Given the description of an element on the screen output the (x, y) to click on. 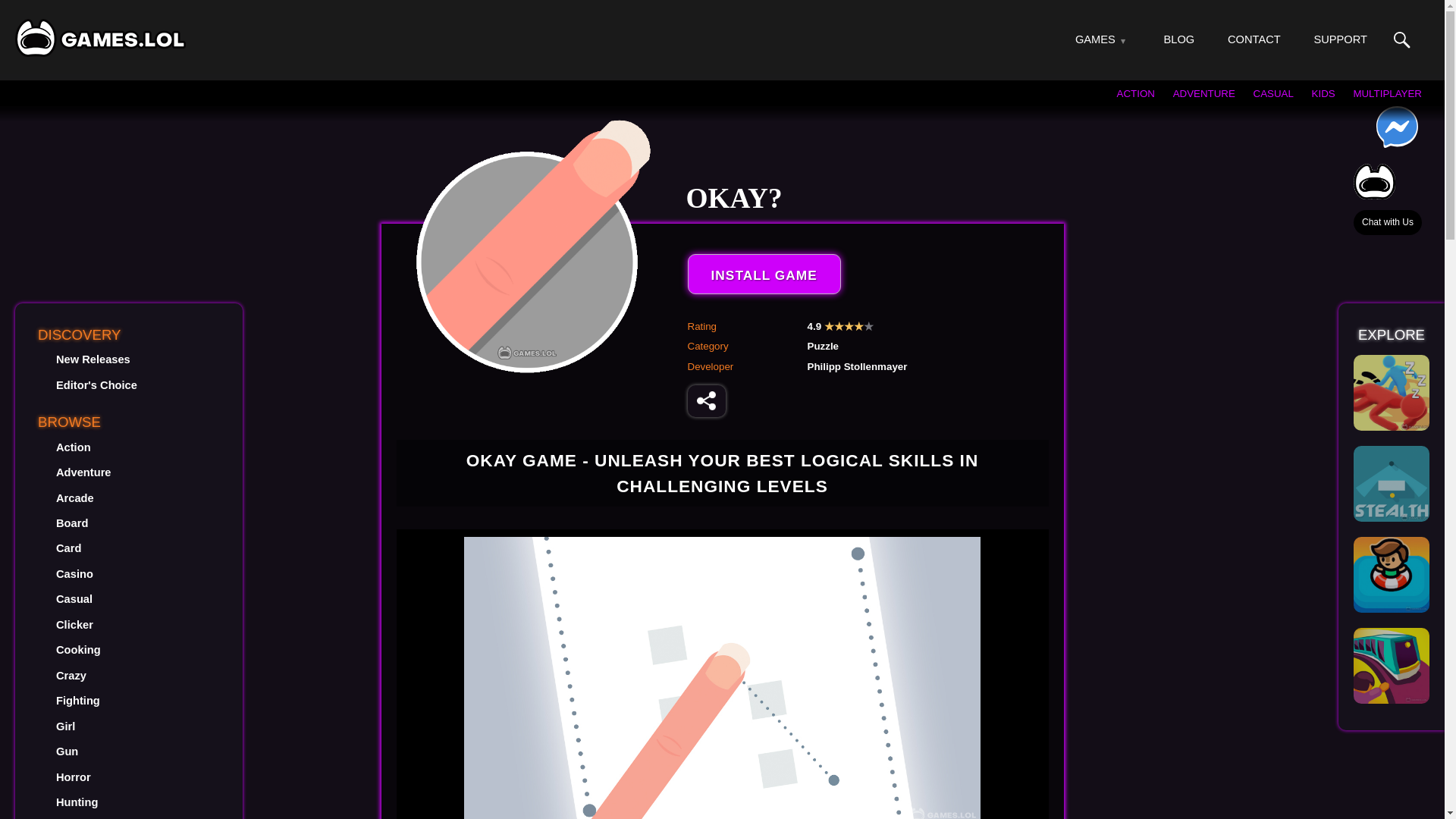
Editor's Choice (96, 385)
CONTACT (1254, 39)
New Releases (93, 358)
GAMES (1095, 39)
BLOG (1179, 39)
Action (73, 447)
ADVENTURE (1203, 93)
Play Sneak Out 3D on PC (1391, 392)
CASUAL (1273, 93)
MULTIPLAYER (1387, 93)
KIDS (1323, 93)
ACTION (1135, 93)
SUPPORT (1340, 39)
Play Sliding Seas on PC (1391, 574)
Adventure (83, 472)
